Given the description of an element on the screen output the (x, y) to click on. 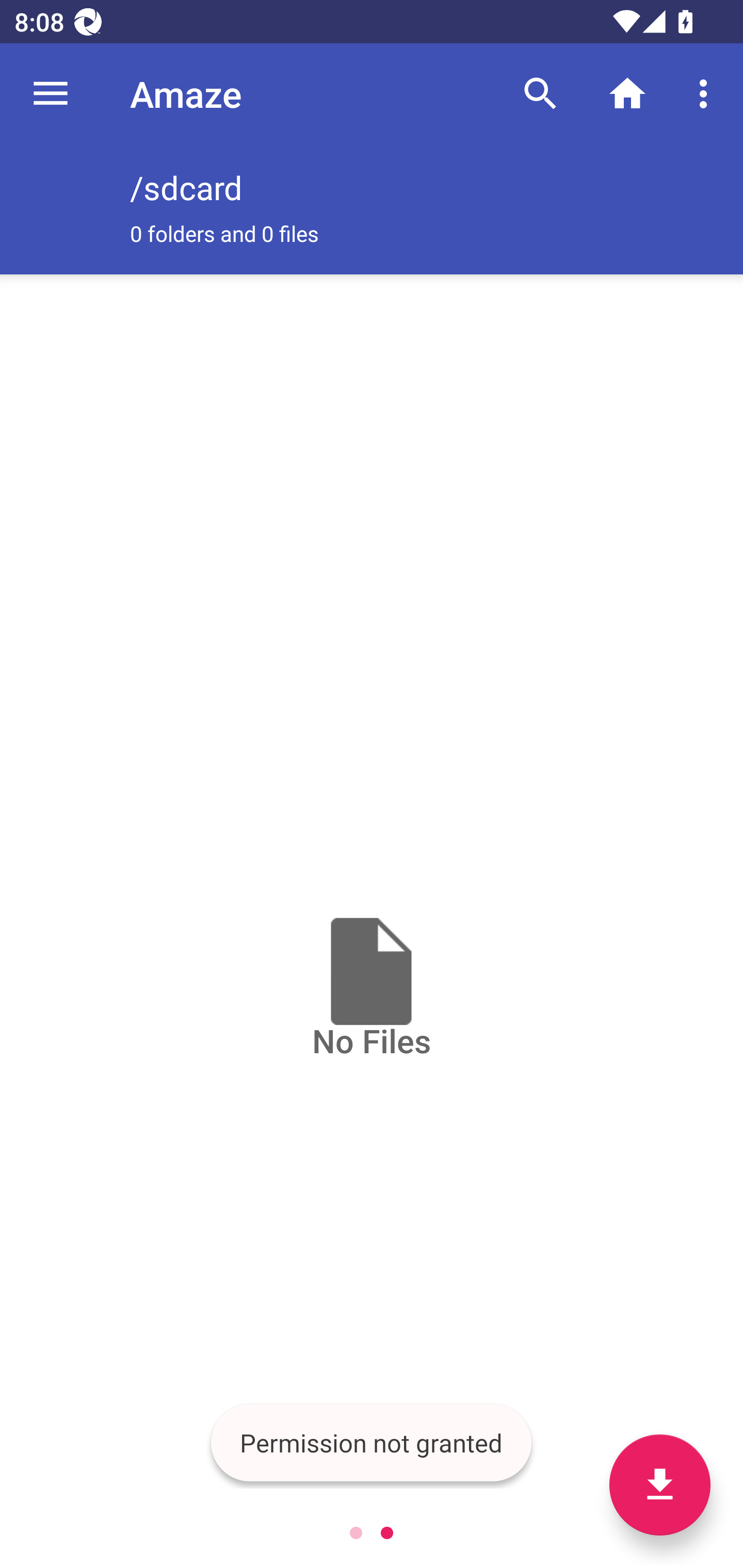
Navigate up (50, 93)
Search (540, 93)
Home (626, 93)
More options (706, 93)
